Given the description of an element on the screen output the (x, y) to click on. 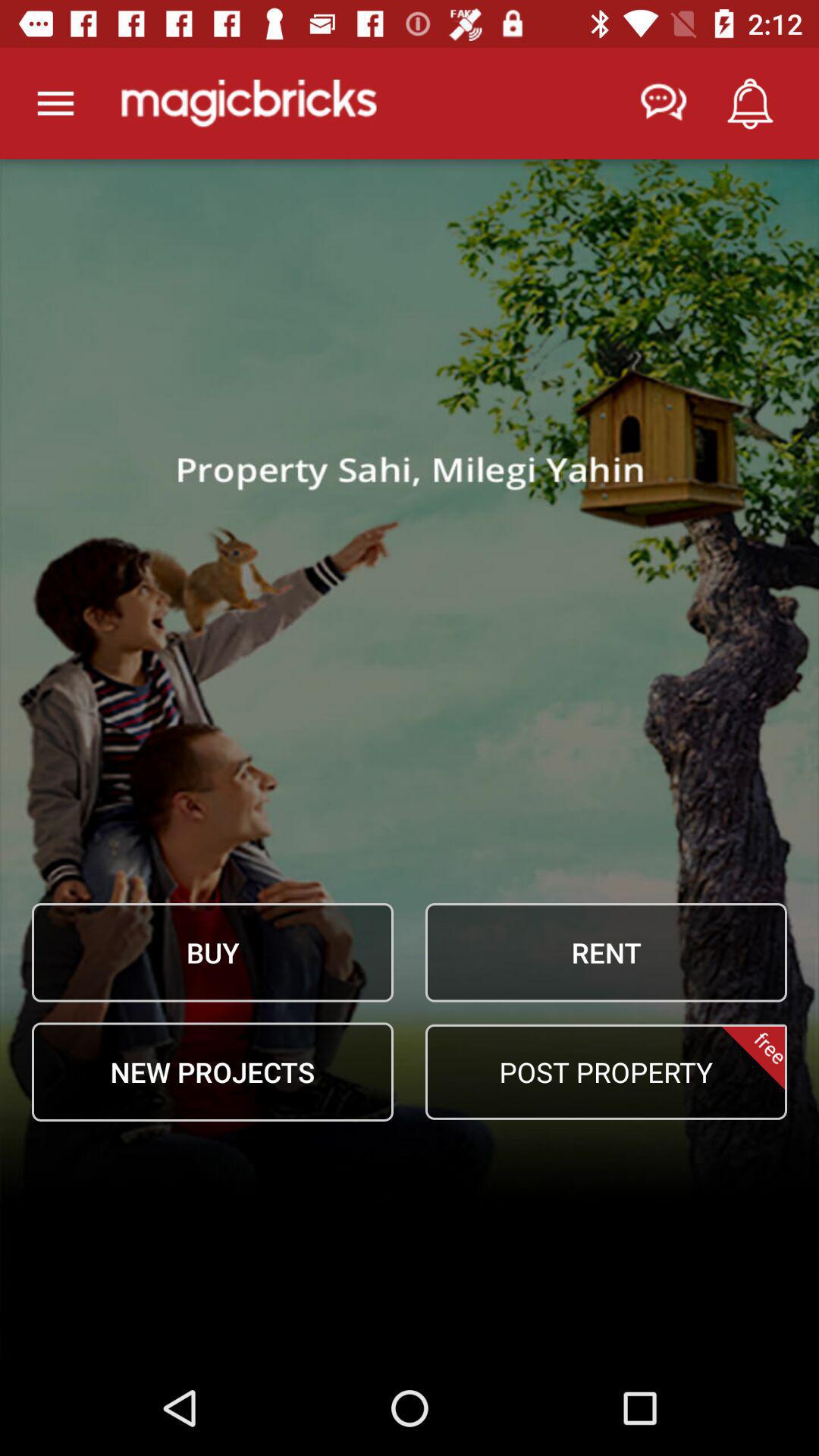
go to menu (55, 103)
